Given the description of an element on the screen output the (x, y) to click on. 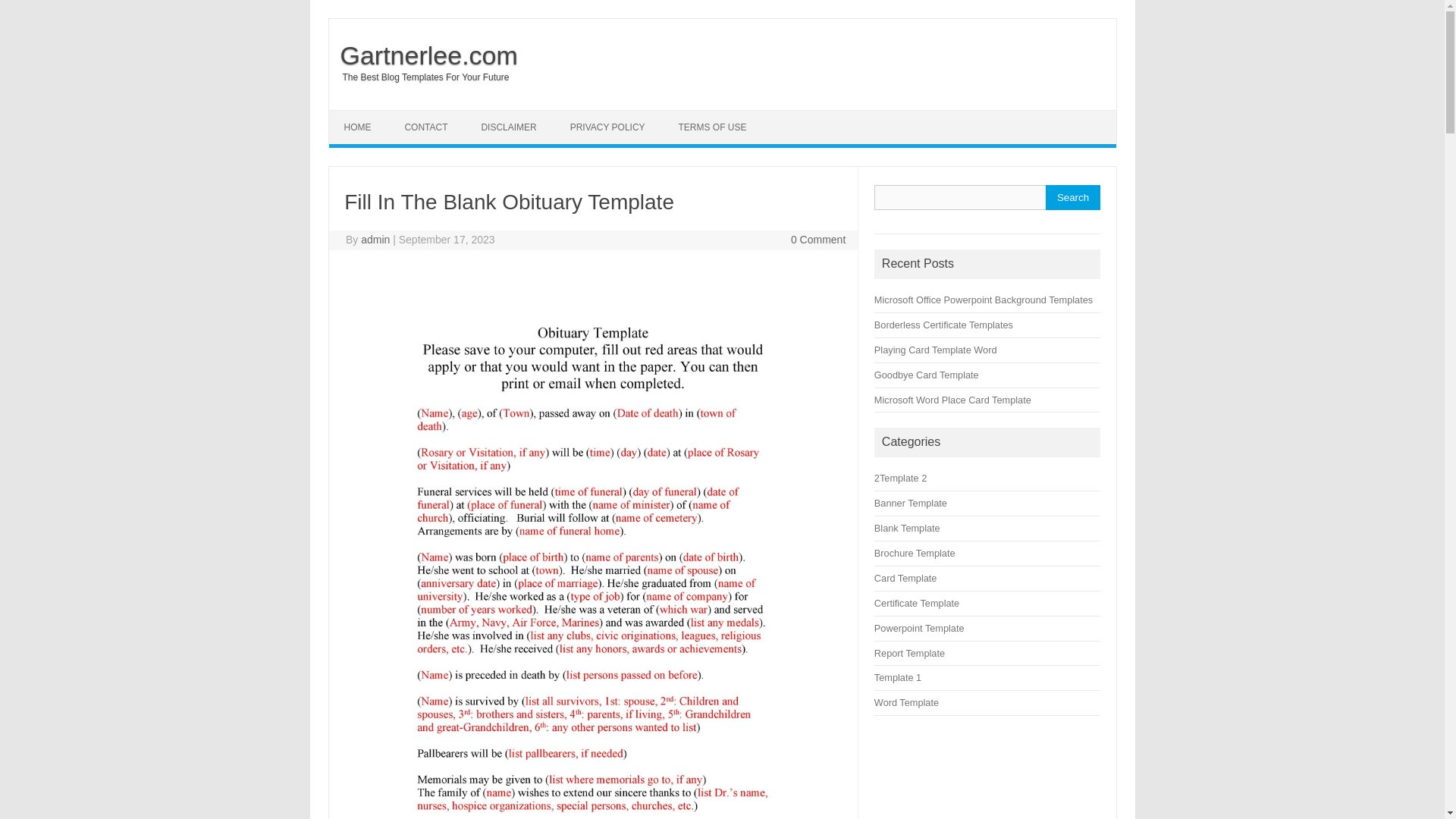
Borderless Certificate Templates (944, 324)
Microsoft Office Powerpoint Background Templates (984, 299)
Playing Card Template Word (936, 349)
Microsoft Word Place Card Template (952, 399)
Search (1072, 197)
Search (1072, 197)
DISCLAIMER (508, 127)
Goodbye Card Template (926, 374)
The Best Blog Templates For Your Future (419, 77)
Skip to content (363, 114)
Gartnerlee.com (423, 54)
Gartnerlee.com (423, 54)
PRIVACY POLICY (607, 127)
admin (375, 239)
TERMS OF USE (711, 127)
